Given the description of an element on the screen output the (x, y) to click on. 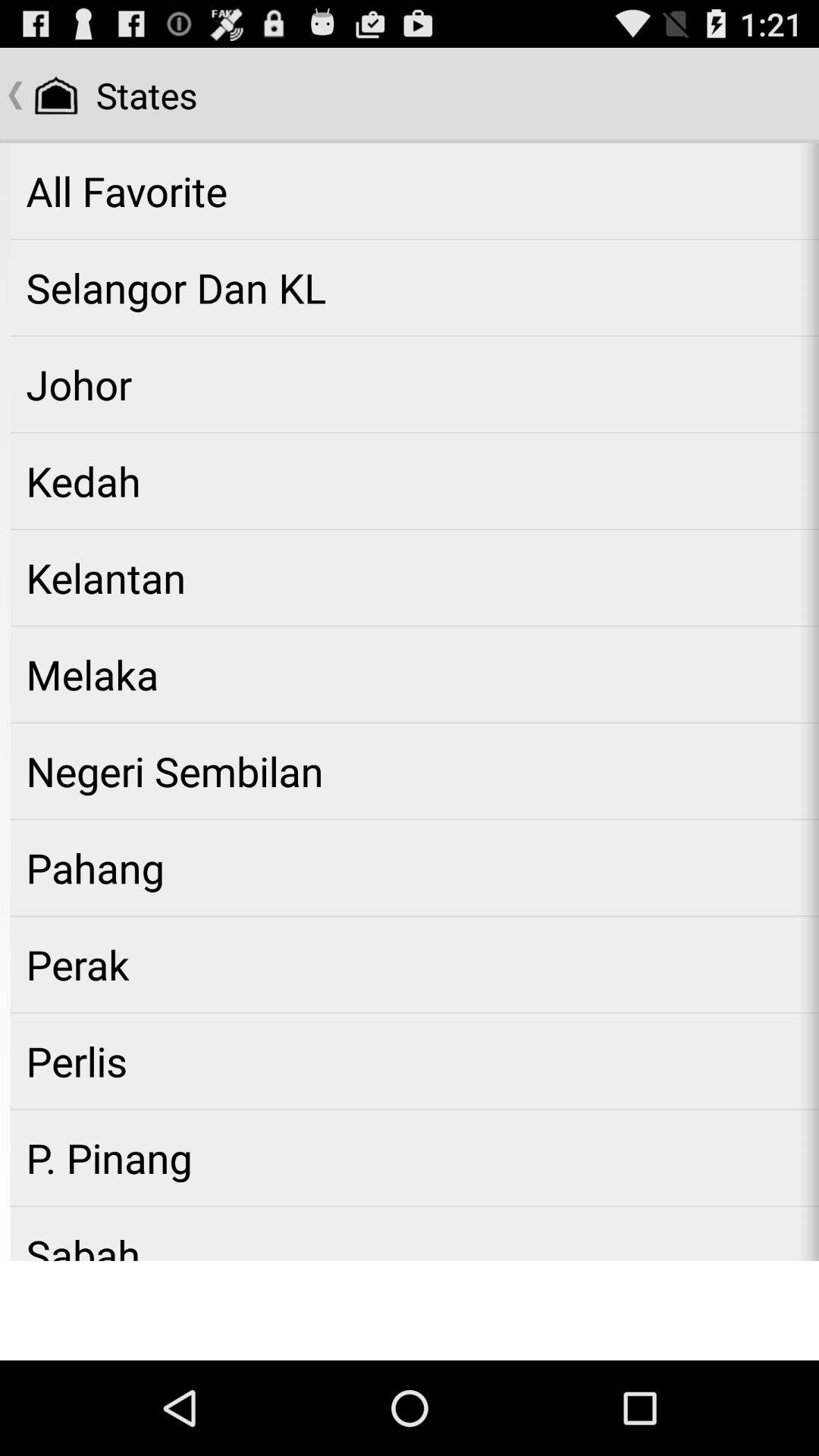
select the melaka icon (414, 674)
